Given the description of an element on the screen output the (x, y) to click on. 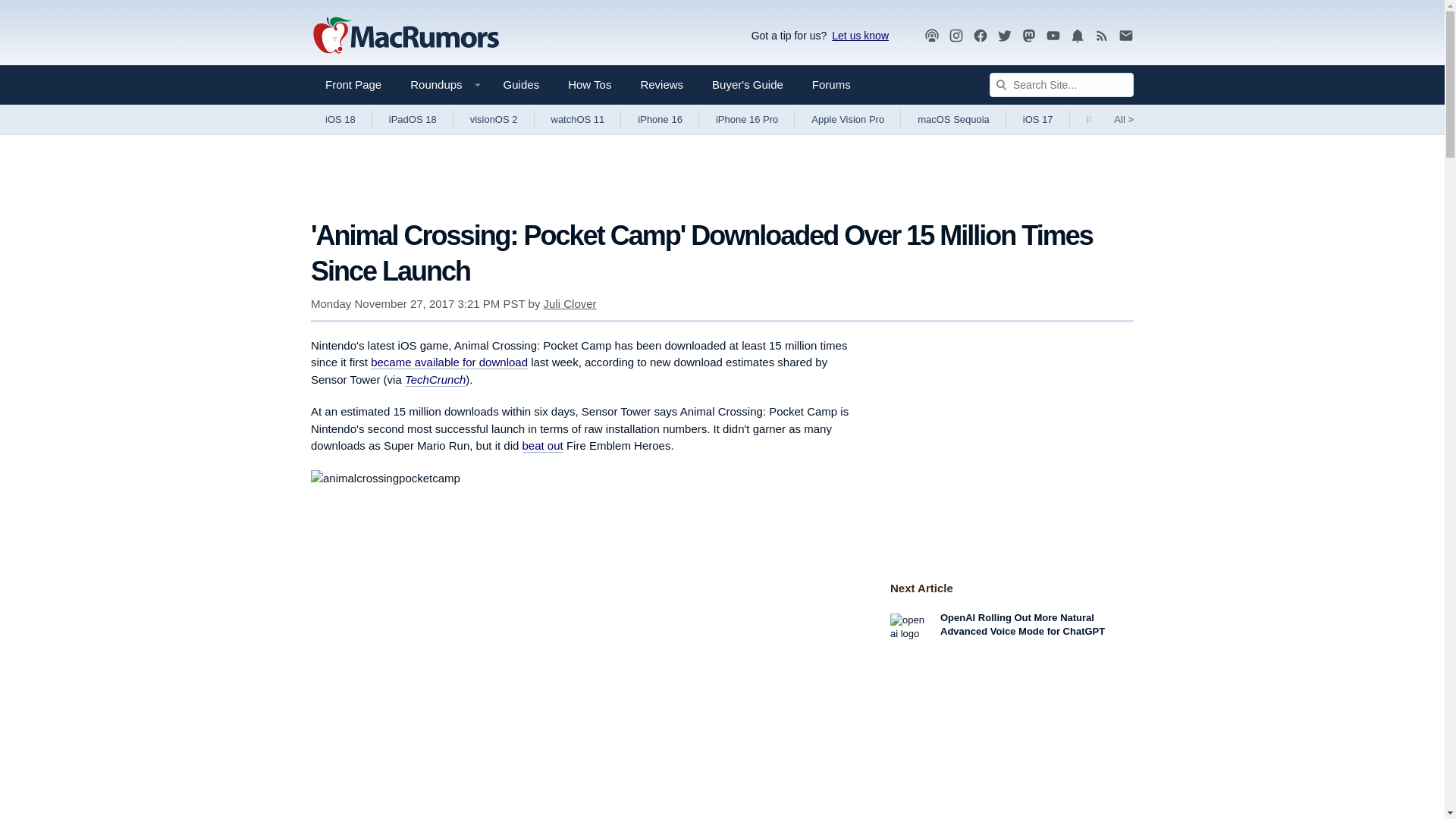
MacRumors RSS Feed (1101, 35)
Notifications (1077, 35)
Apple, Mac, iPhone, iPad News and Rumors (405, 36)
Front (353, 84)
MacRumors on Instagram (956, 35)
Notifications (1077, 35)
Newsletter (1126, 35)
RSS (1101, 35)
Guides (521, 84)
Roundups (441, 84)
YouTube (1053, 35)
Mastodon (1029, 35)
MacRumors Show (931, 35)
Mastodon (1029, 35)
Twitter (1004, 35)
